Given the description of an element on the screen output the (x, y) to click on. 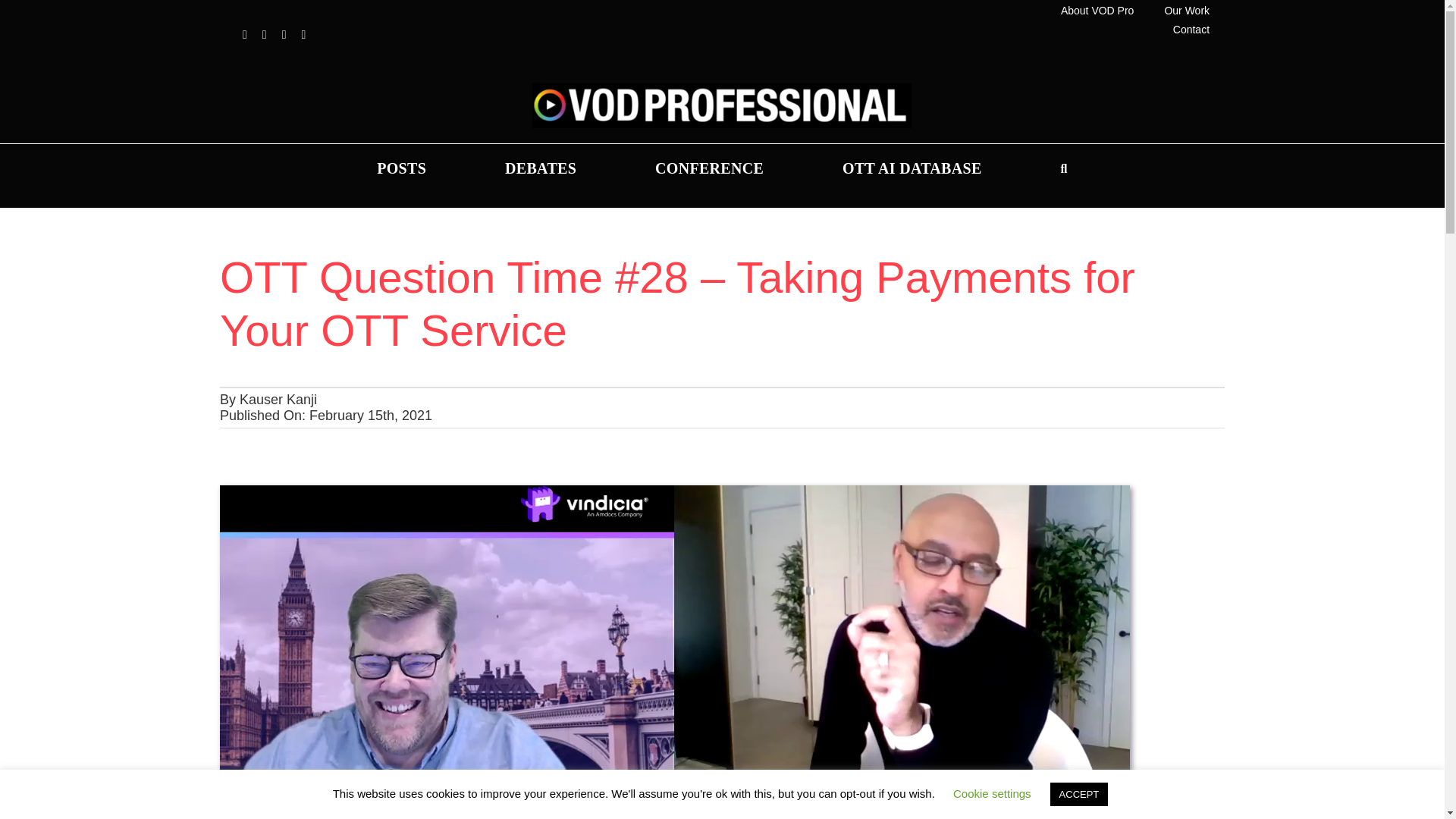
Posts by Kauser Kanji (278, 399)
Contact (1190, 29)
Kauser Kanji (278, 399)
Cookie settings (991, 793)
About VOD Pro (1097, 10)
POSTS (401, 168)
OTT AI DATABASE (911, 168)
ACCEPT (1078, 793)
Our Work (1186, 10)
CONFERENCE (709, 168)
DEBATES (540, 168)
